Given the description of an element on the screen output the (x, y) to click on. 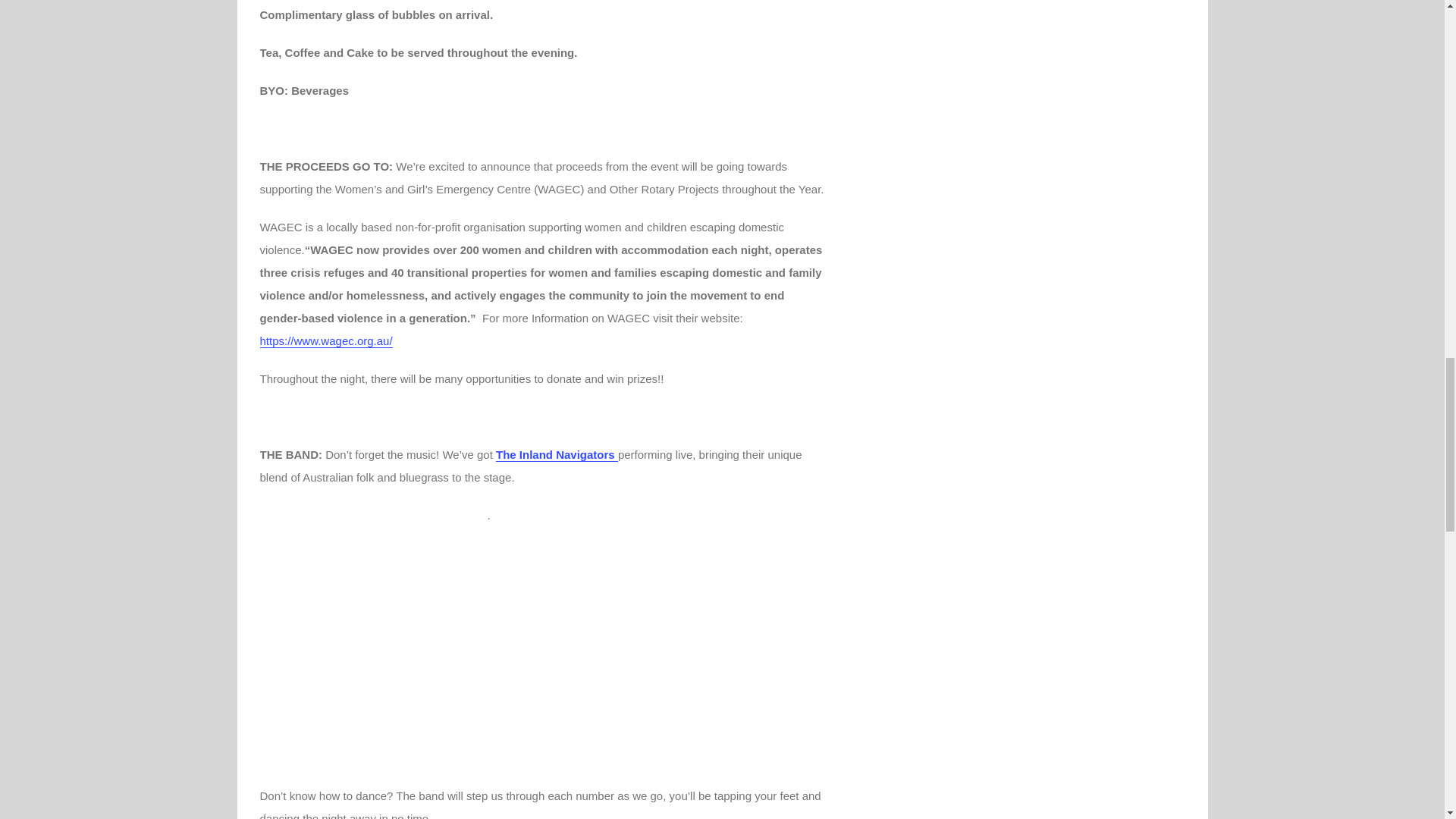
The Inland Navigators (556, 454)
